Given the description of an element on the screen output the (x, y) to click on. 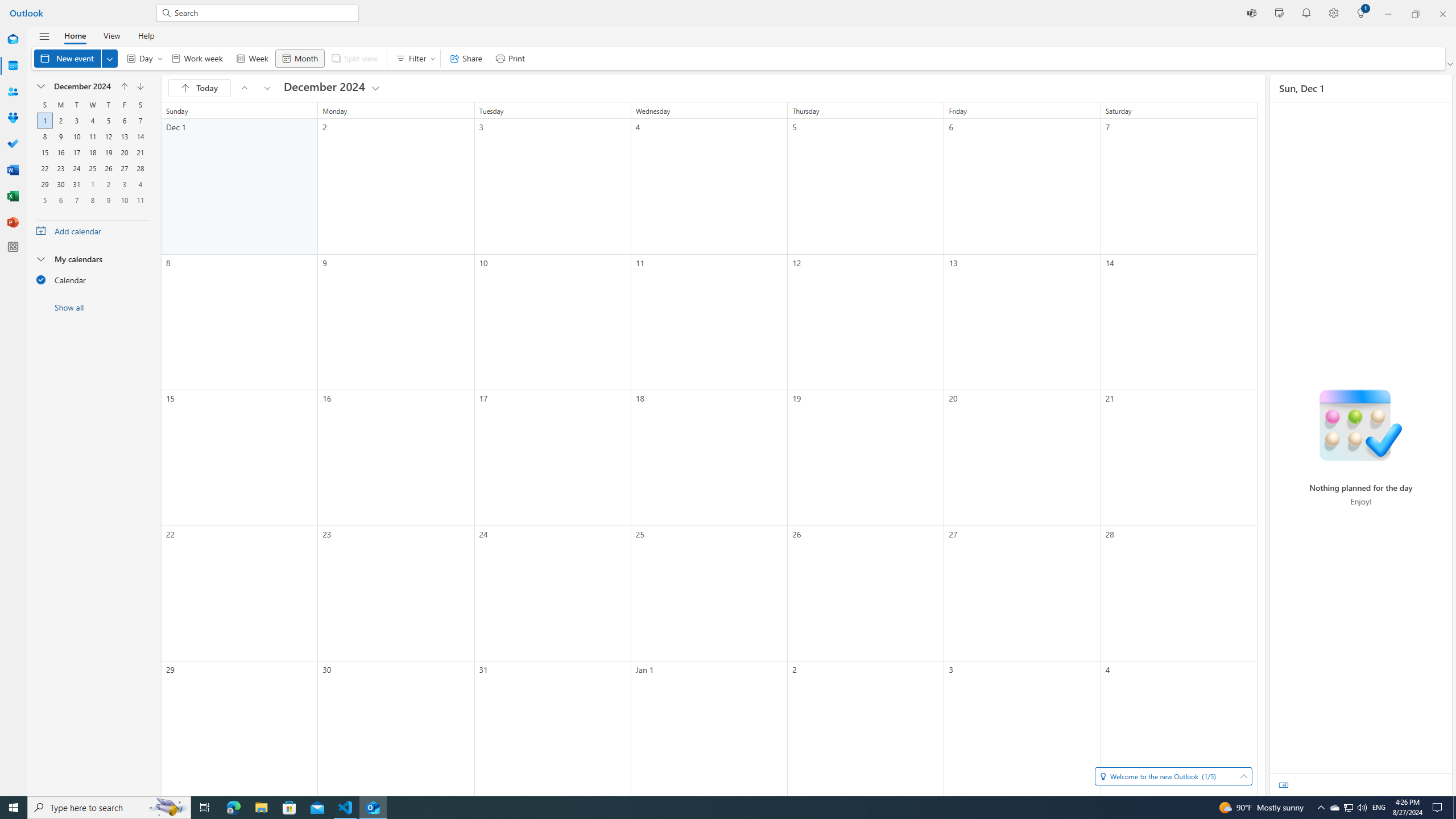
26, December, 2024 (108, 168)
26, December, 2024 (108, 168)
Calendar (12, 65)
Toggle agenda pane (1283, 785)
15, December, 2024 (44, 152)
Class: weekRow-730 (92, 200)
